Given the description of an element on the screen output the (x, y) to click on. 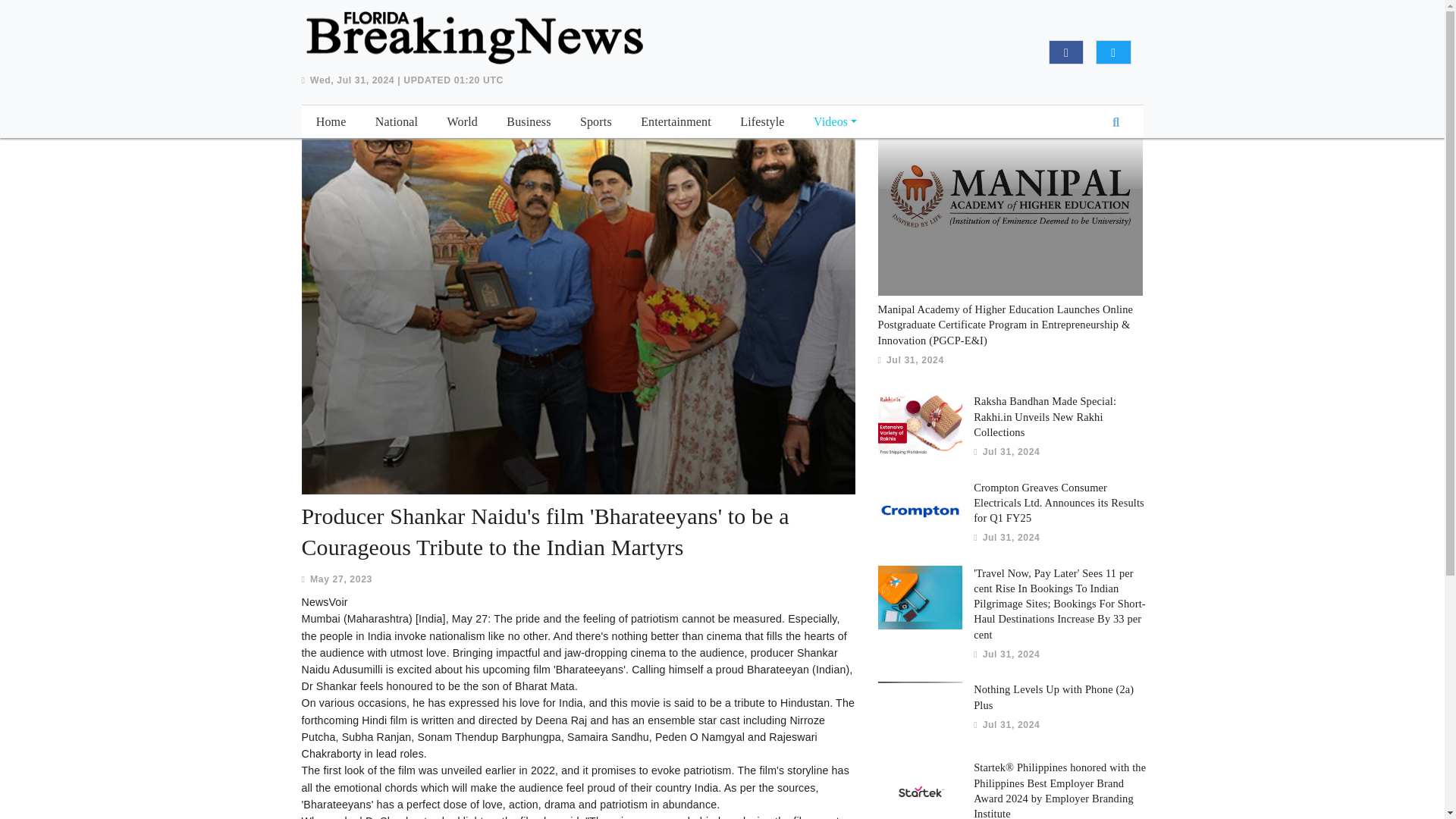
Videos (830, 120)
Entertainment (676, 120)
National (396, 120)
World (462, 120)
Lifestyle (762, 120)
Home (331, 120)
Sports (596, 120)
Business (528, 120)
